Given the description of an element on the screen output the (x, y) to click on. 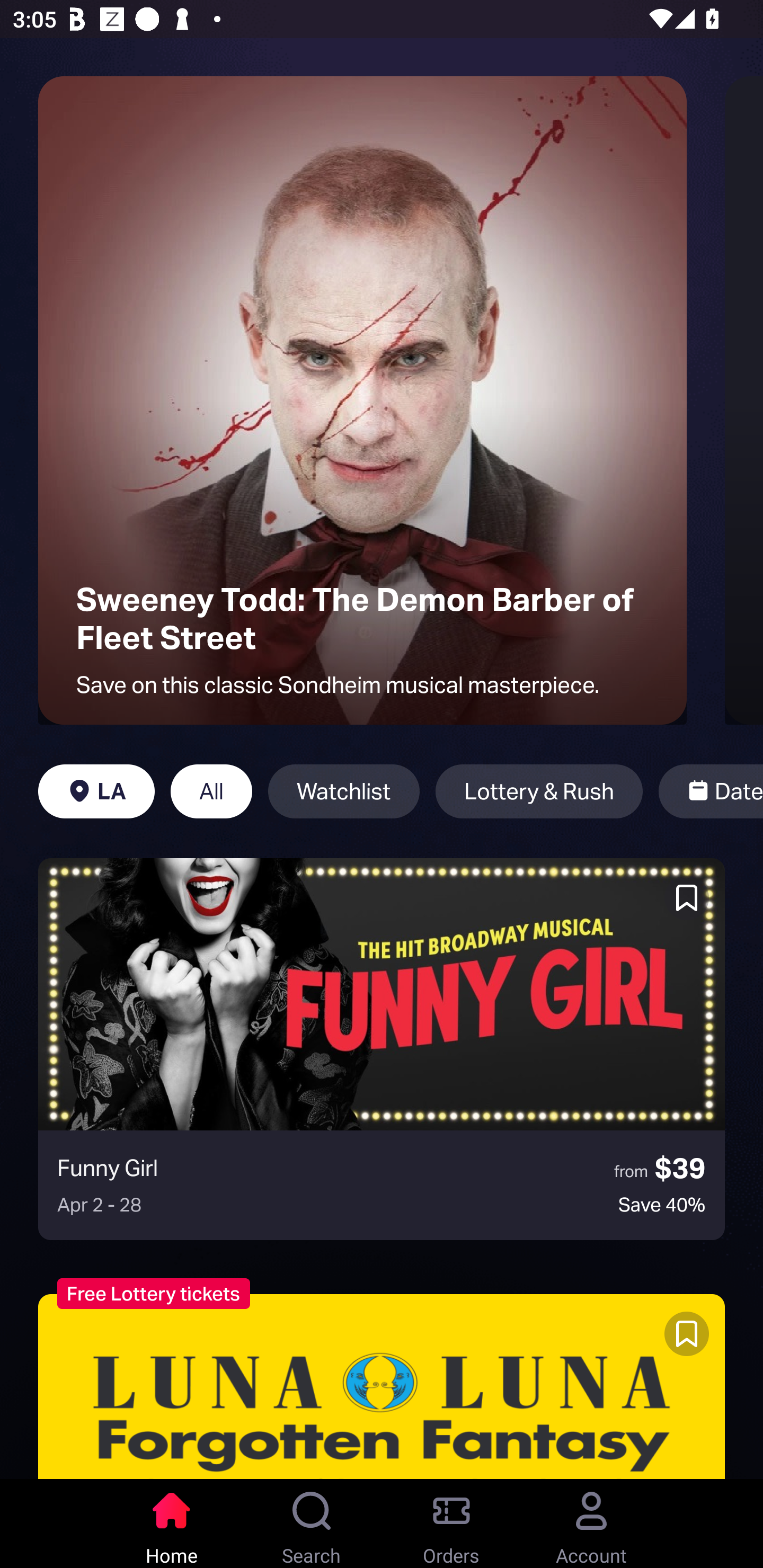
LA (96, 791)
All (211, 791)
Watchlist (343, 791)
Lottery & Rush (538, 791)
Funny Girl from $39 Apr 2 - 28 Save 40% (381, 1048)
Search (311, 1523)
Orders (451, 1523)
Account (591, 1523)
